Given the description of an element on the screen output the (x, y) to click on. 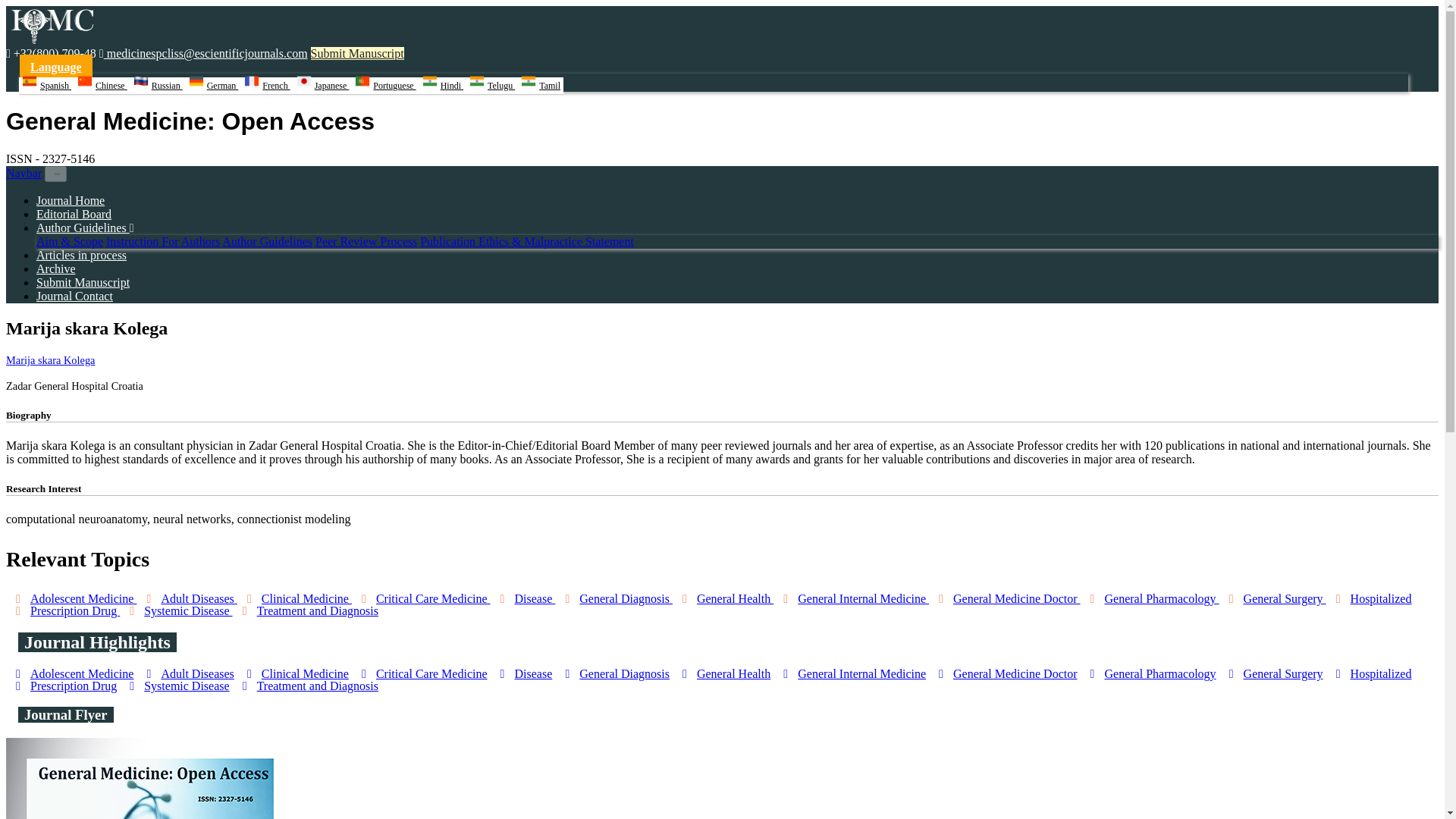
IOMC (50, 39)
Adult Diseases (185, 598)
Telugu (491, 85)
Author Guidelines (267, 241)
General Health (722, 598)
Journal Home (70, 200)
French (266, 85)
Clinical Medicine (294, 598)
Spanish (46, 85)
Articles in process (81, 254)
Chinese (102, 85)
Instruction For Authors (162, 241)
Articles in process (81, 254)
Submit Manuscript (82, 282)
German (213, 85)
